Given the description of an element on the screen output the (x, y) to click on. 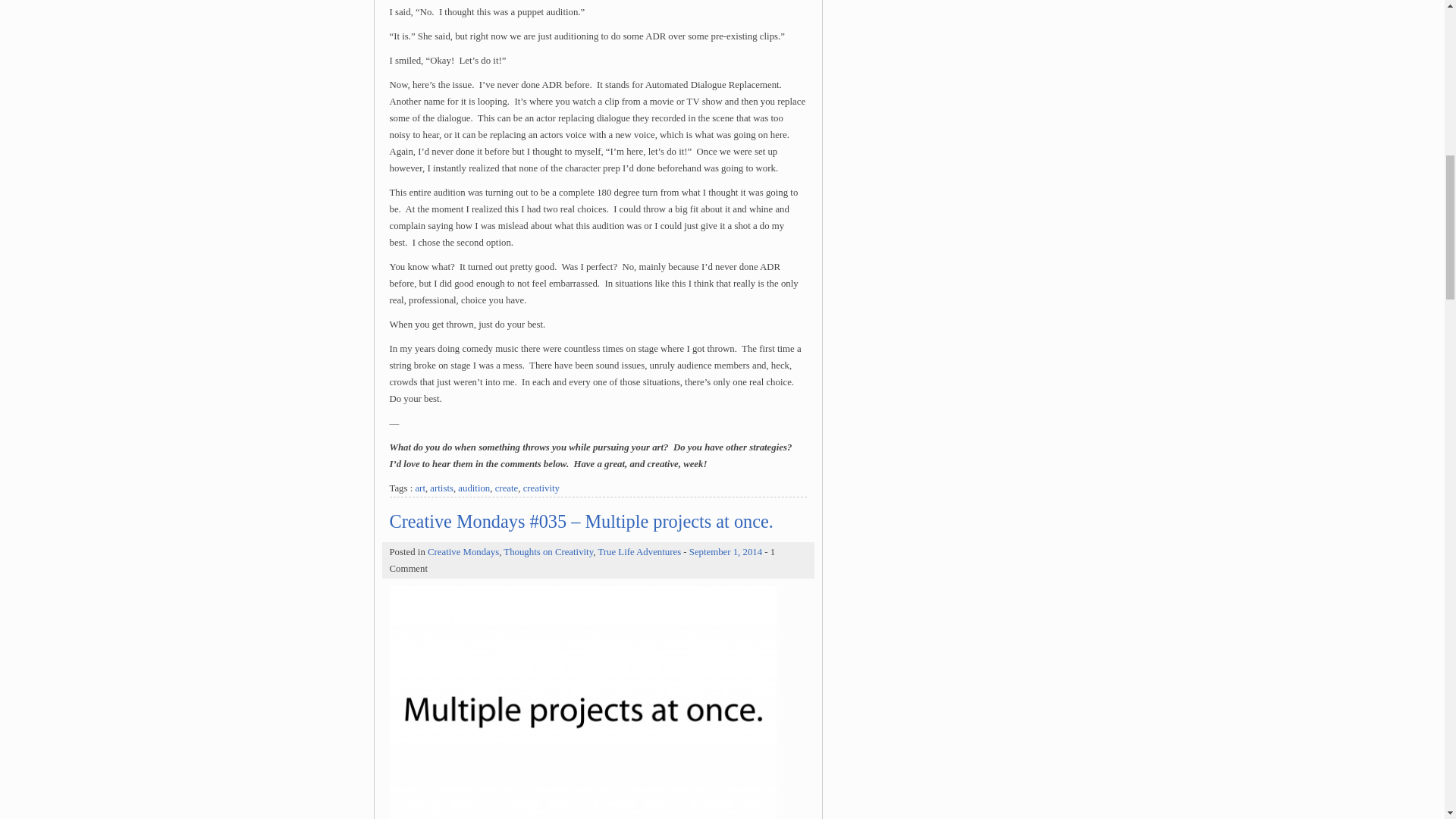
September 1, 2014 (724, 552)
creativity (540, 488)
Creative Mondays (463, 552)
artists (440, 488)
True Life Adventures (638, 552)
Thoughts on Creativity (547, 552)
art (419, 488)
create (506, 488)
audition (473, 488)
